Given the description of an element on the screen output the (x, y) to click on. 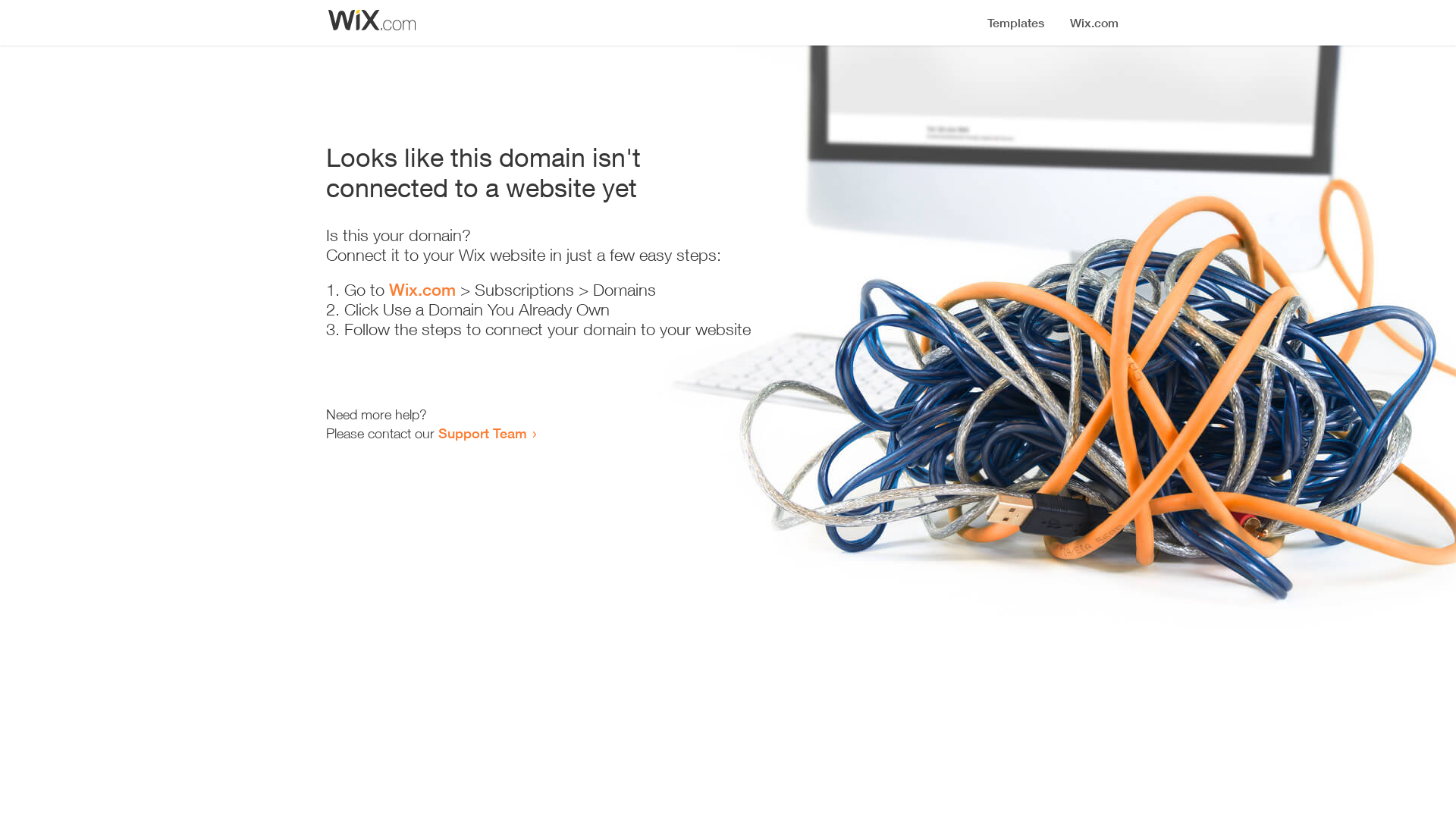
Support Team Element type: text (482, 432)
Wix.com Element type: text (422, 289)
